Given the description of an element on the screen output the (x, y) to click on. 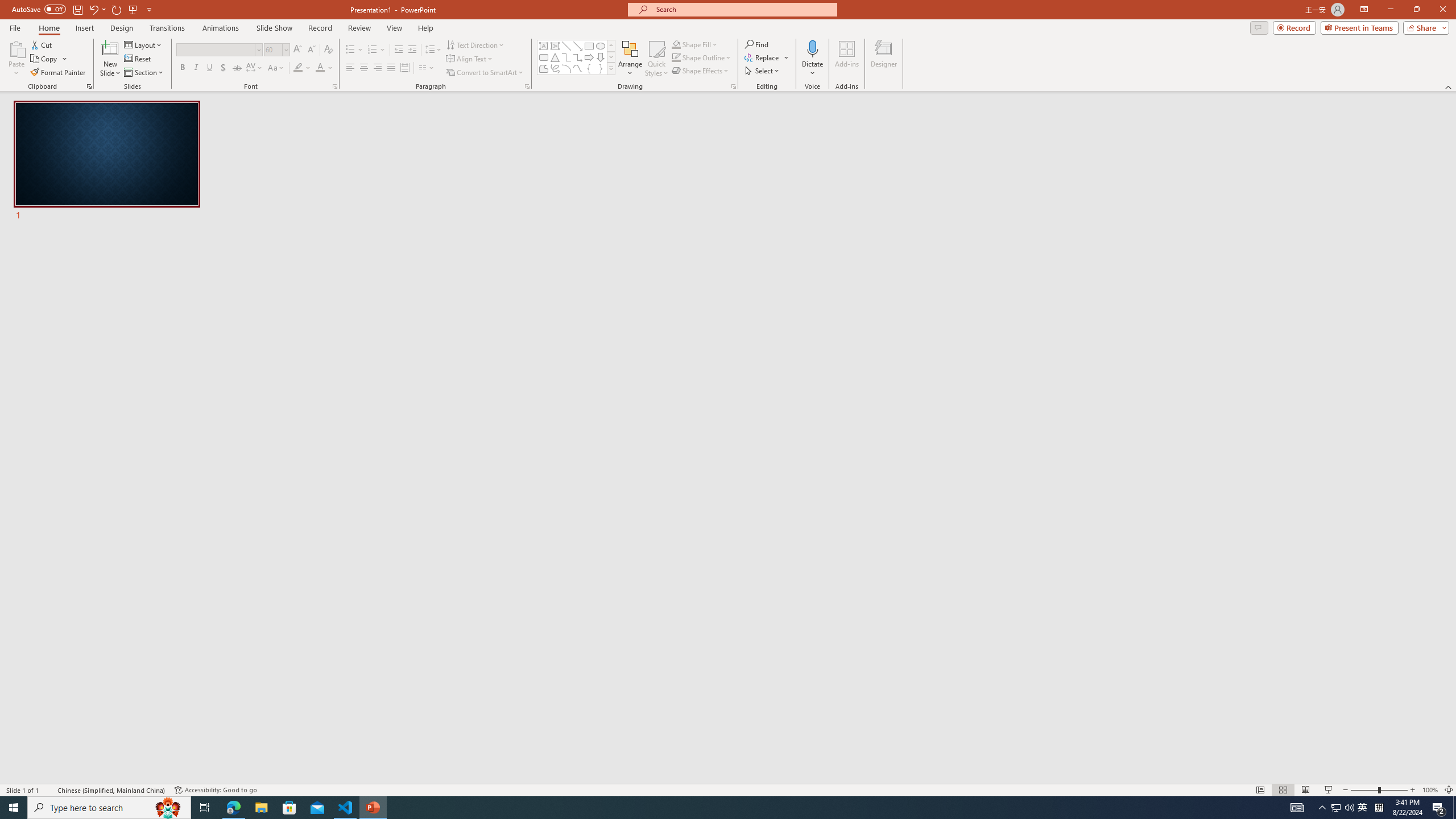
Shape Effects (700, 69)
Text Highlight Color Yellow (297, 67)
Freeform: Shape (543, 68)
Vertical Text Box (554, 45)
Increase Font Size (297, 49)
Columns (426, 67)
Align Left (349, 67)
Character Spacing (254, 67)
